Given the description of an element on the screen output the (x, y) to click on. 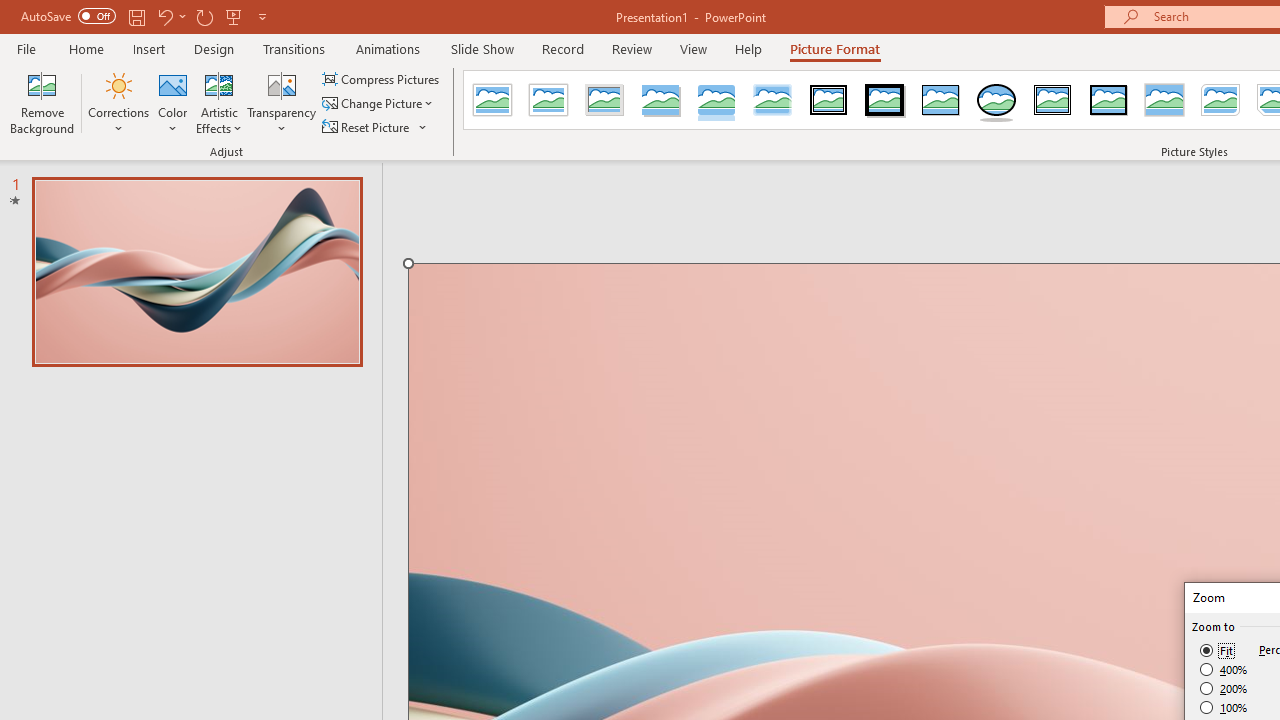
Transparency (281, 102)
Soft Edge Rectangle (772, 100)
Compound Frame, Black (1053, 100)
Reset Picture (375, 126)
Thick Matte, Black (884, 100)
Change Picture (379, 103)
100% (1224, 707)
Color (173, 102)
